Given the description of an element on the screen output the (x, y) to click on. 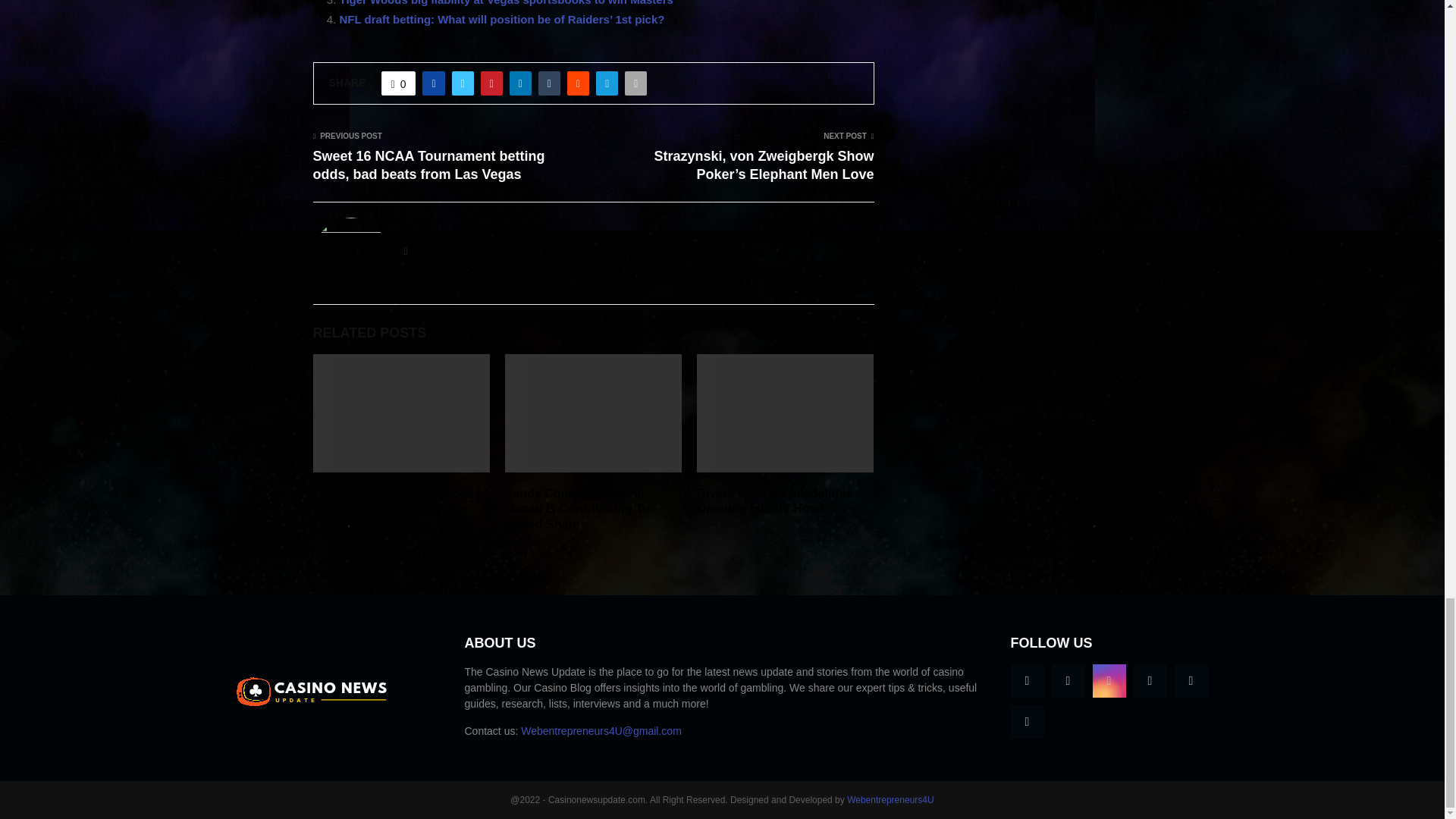
Like (398, 83)
